Given the description of an element on the screen output the (x, y) to click on. 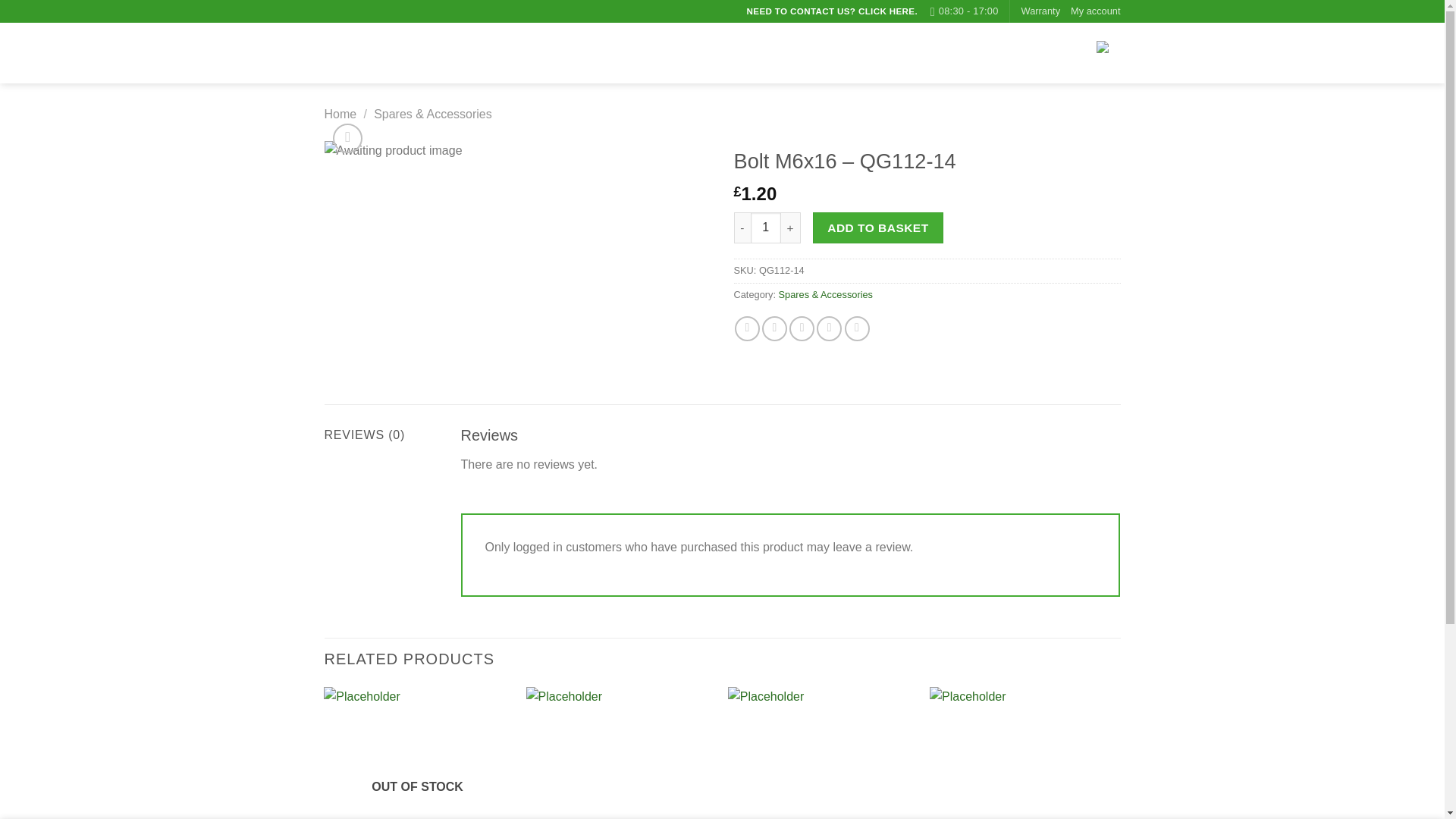
08:30 - 17:00 (964, 11)
1 (765, 227)
Warranty (1040, 11)
CONTACT US (949, 52)
NEED TO CONTACT US? CLICK HERE. (832, 11)
HOME (826, 52)
Share on LinkedIn (856, 328)
Pin on Pinterest (828, 328)
Basket (1067, 52)
SHOP (878, 52)
